Given the description of an element on the screen output the (x, y) to click on. 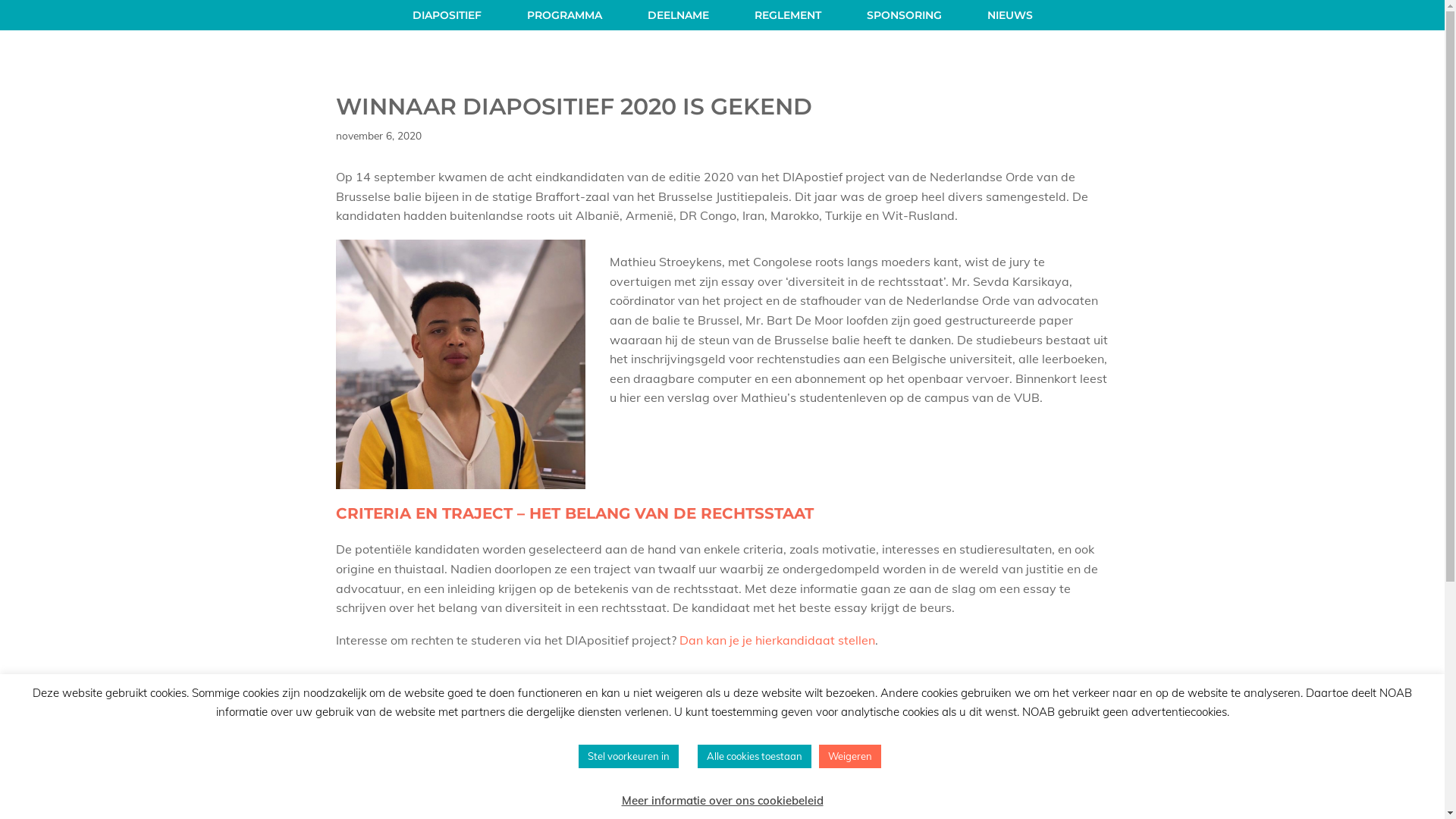
DEELNAME Element type: text (677, 15)
Kandidaten van 2020 volgden het introductieprogramma Element type: text (486, 677)
Stel voorkeuren in Element type: text (628, 756)
Meer informatie over ons cookiebeleid Element type: text (722, 800)
NIEUWS Element type: text (1009, 15)
Dan kan je je hierkandidaat stellen Element type: text (777, 639)
DIAPOSITIEF Element type: text (446, 15)
REGLEMENT Element type: text (787, 15)
Krijgt de Brusselse advocatuur meer kleur? Element type: text (452, 693)
PROGRAMMA Element type: text (563, 15)
SPONSORING Element type: text (903, 15)
Alle cookies toestaan Element type: text (754, 756)
Weigeren Element type: text (850, 756)
